Given the description of an element on the screen output the (x, y) to click on. 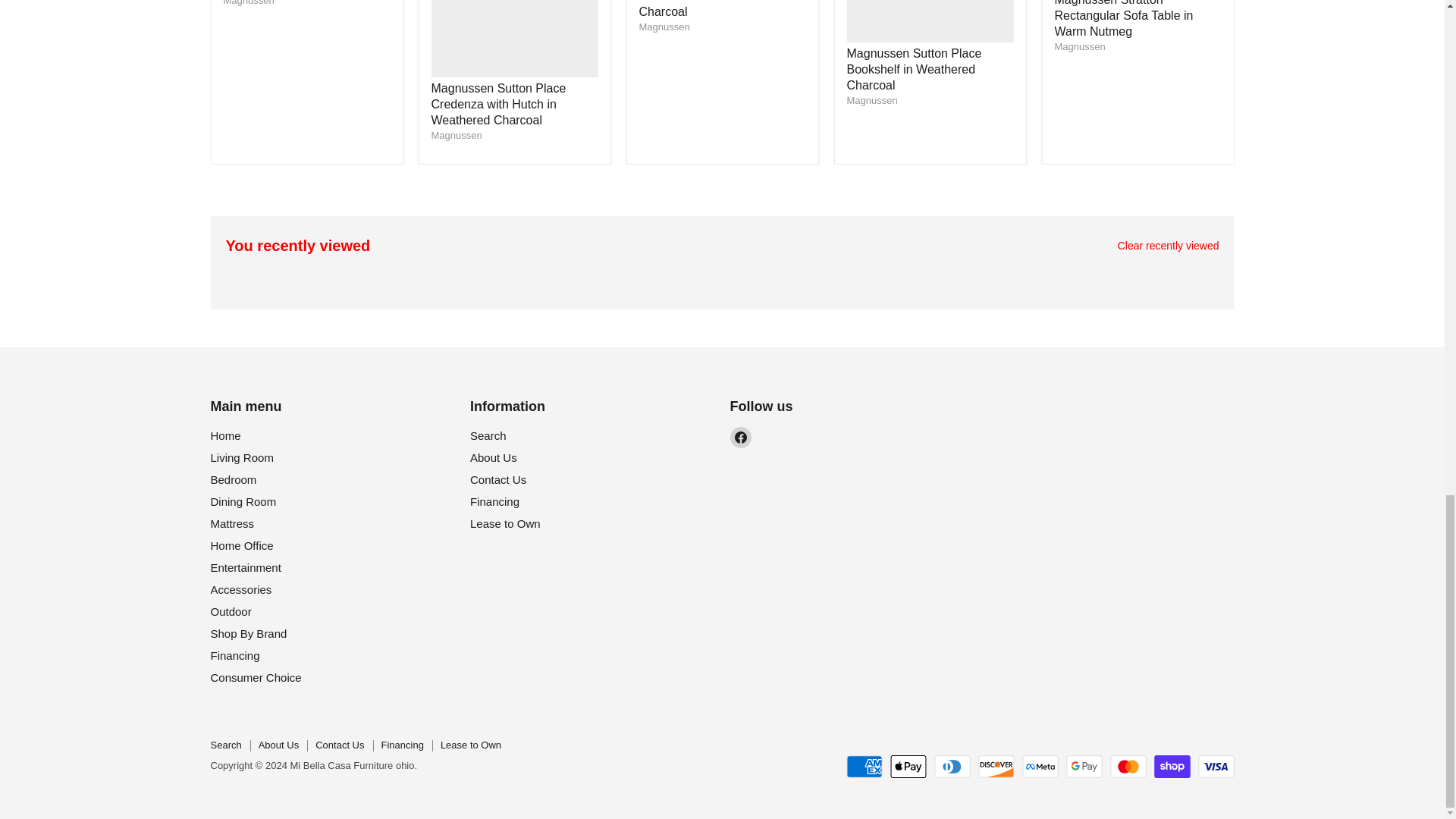
Magnussen (663, 26)
Facebook (740, 436)
Magnussen (247, 2)
Magnussen (455, 134)
Magnussen (1079, 46)
Magnussen (870, 100)
